Given the description of an element on the screen output the (x, y) to click on. 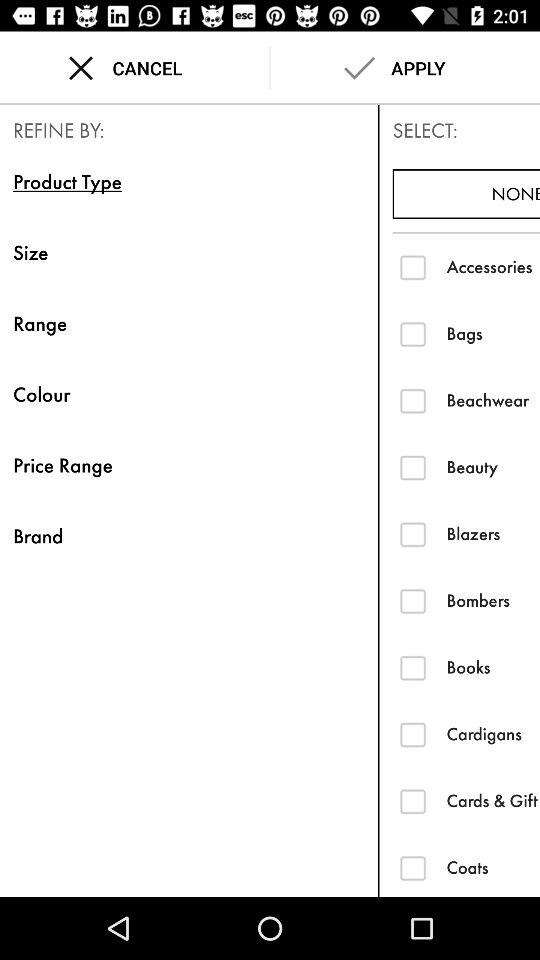
select beauty (412, 467)
